Given the description of an element on the screen output the (x, y) to click on. 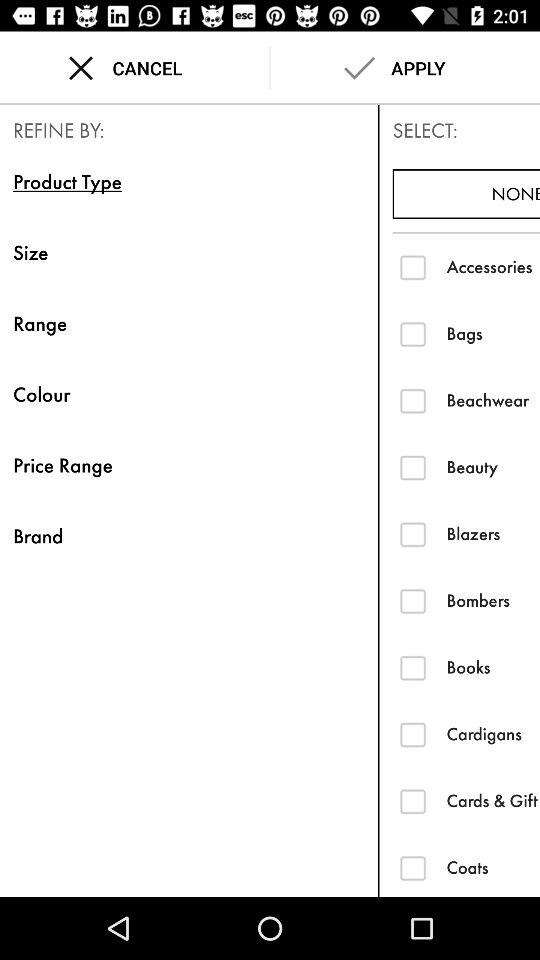
select beauty (412, 467)
